Given the description of an element on the screen output the (x, y) to click on. 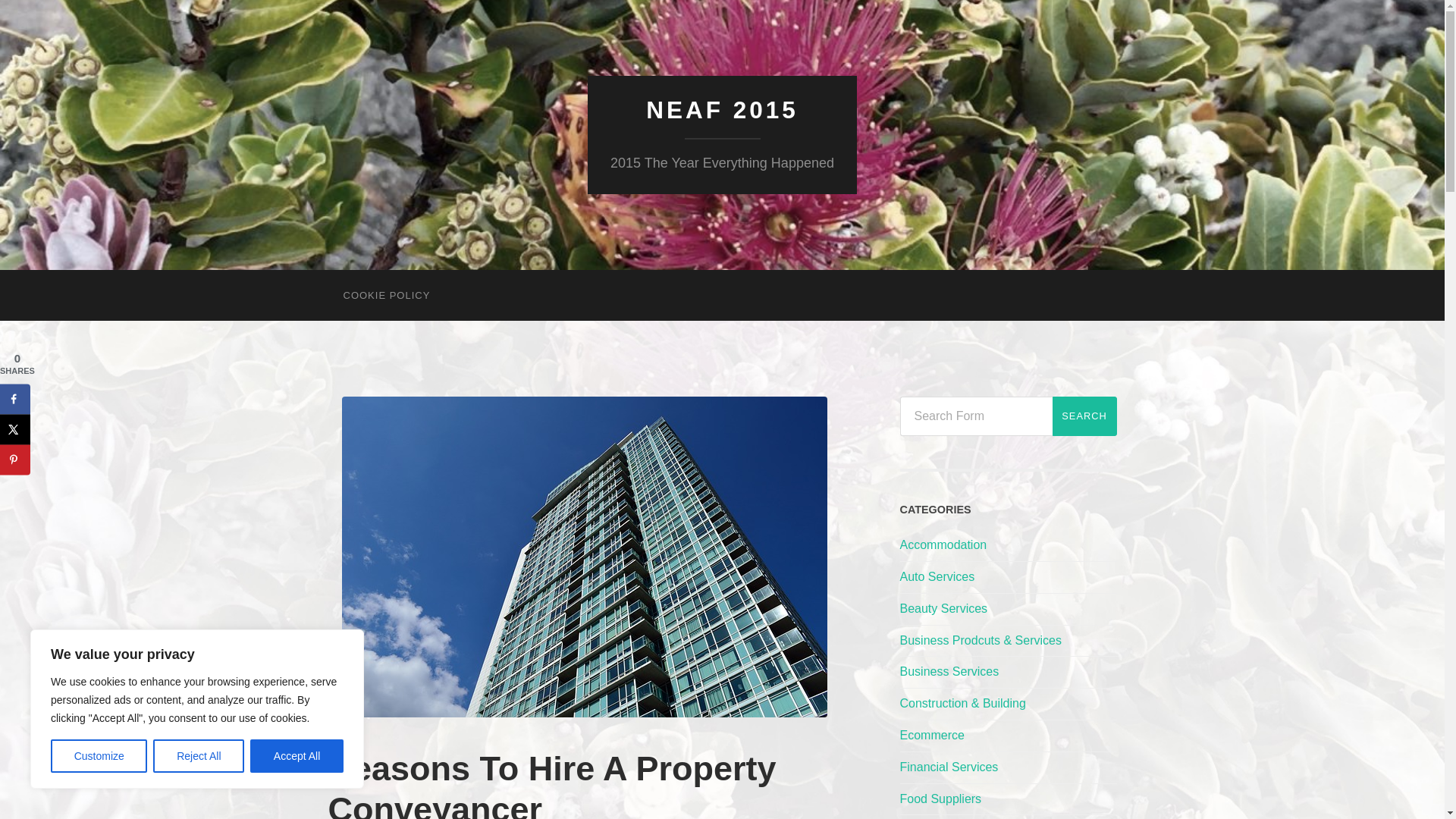
Reasons To Hire A Property Conveyancer (551, 784)
Share on Facebook (15, 399)
Save to Pinterest (15, 459)
Share on X (15, 429)
Accept All (296, 756)
Accommodation (943, 544)
Reject All (198, 756)
Auto Services (936, 576)
COOKIE POLICY (386, 295)
Reasons To Hire A Property Conveyancer (551, 784)
Beauty Services (943, 608)
NEAF 2015 (721, 109)
Search (1084, 415)
Business Services (948, 671)
